Given the description of an element on the screen output the (x, y) to click on. 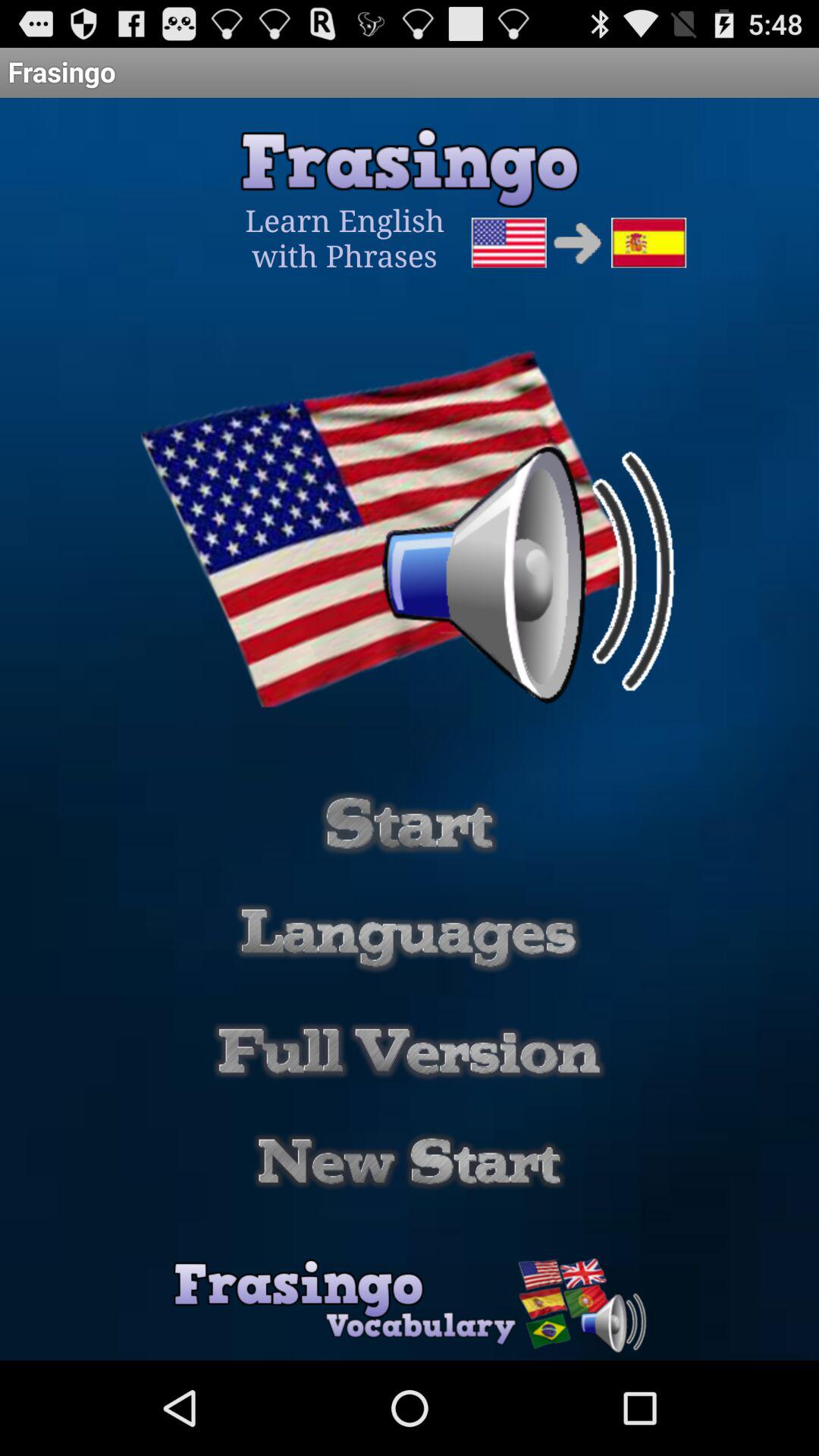
open menu options (408, 937)
